Given the description of an element on the screen output the (x, y) to click on. 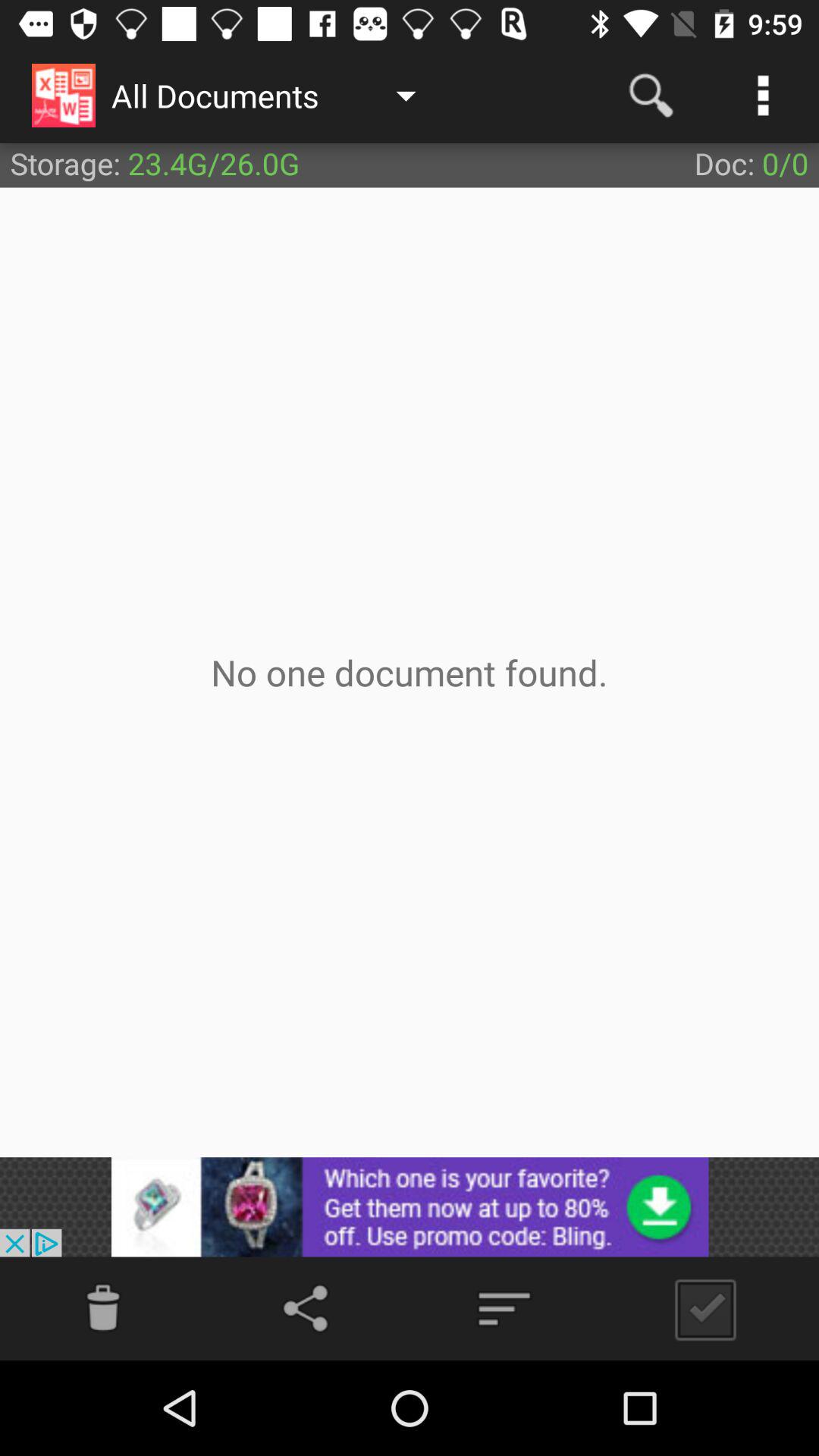
select all entries (699, 1308)
